Given the description of an element on the screen output the (x, y) to click on. 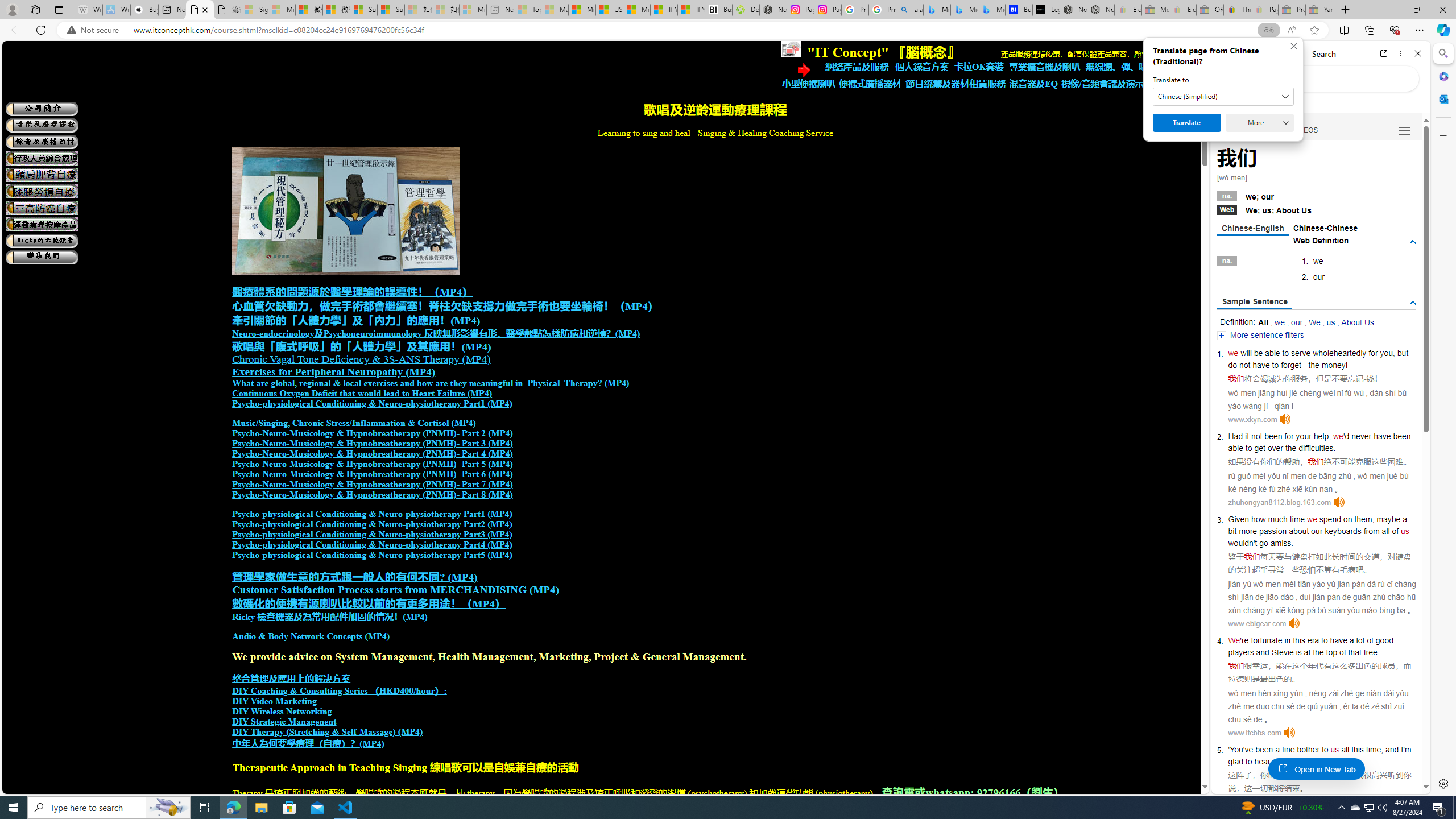
our (1296, 322)
Given (1238, 519)
this (1357, 749)
Close (1417, 53)
